Given the description of an element on the screen output the (x, y) to click on. 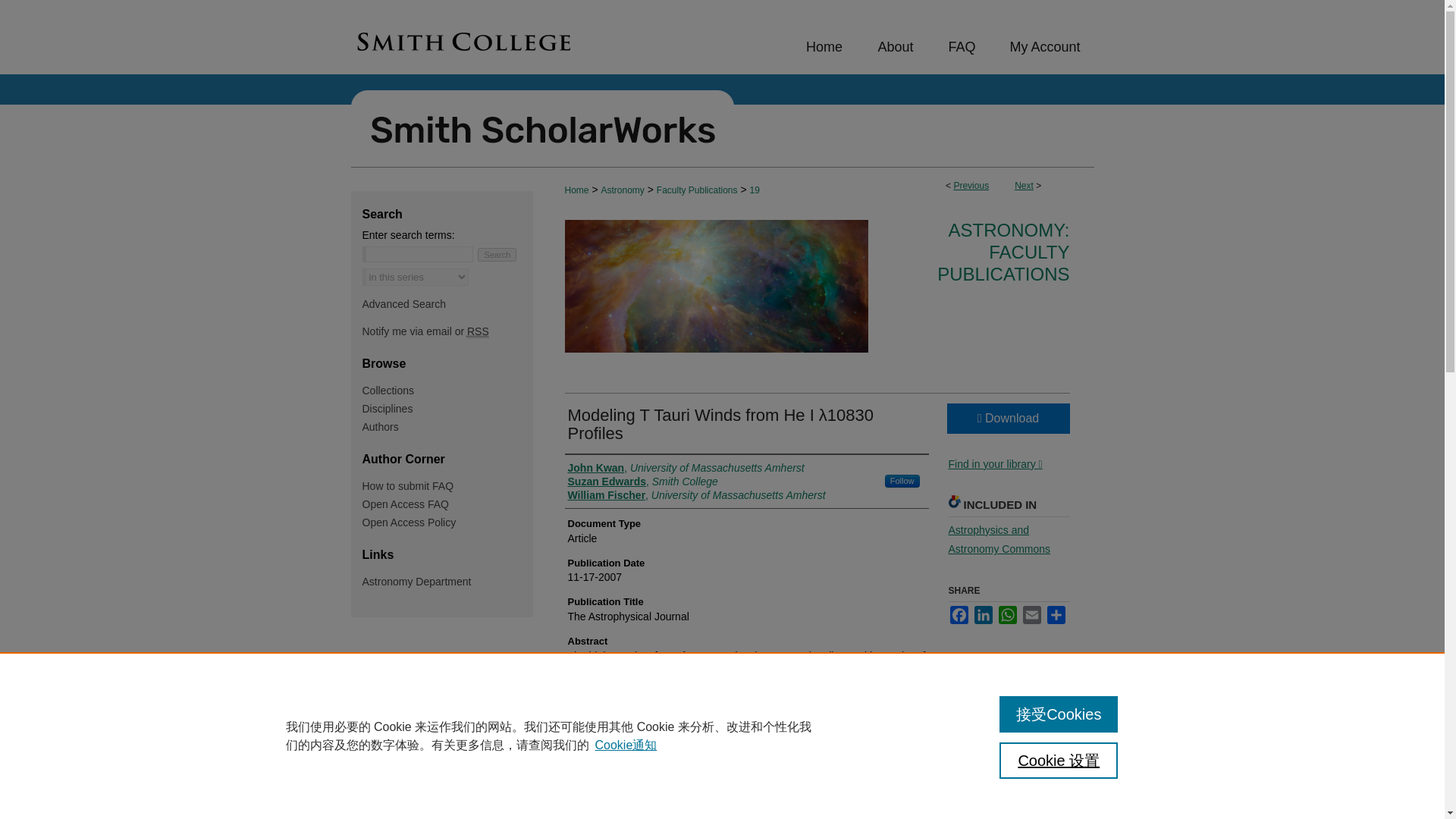
Astrophysics and Astronomy Commons (998, 539)
William Fischer, University of Massachusetts Amherst (696, 495)
Home (824, 46)
John Kwan, University of Massachusetts Amherst (685, 468)
FAQ (960, 46)
FAQ (960, 46)
Astronomy (621, 190)
About (895, 46)
Advanced Search (404, 304)
WhatsApp (1006, 615)
Smith ScholarWorks (721, 121)
Search (496, 254)
Suzan Edwards, Smith College (642, 481)
Find in your library (994, 463)
ASTRONOMY: FACULTY PUBLICATIONS (1002, 252)
